Given the description of an element on the screen output the (x, y) to click on. 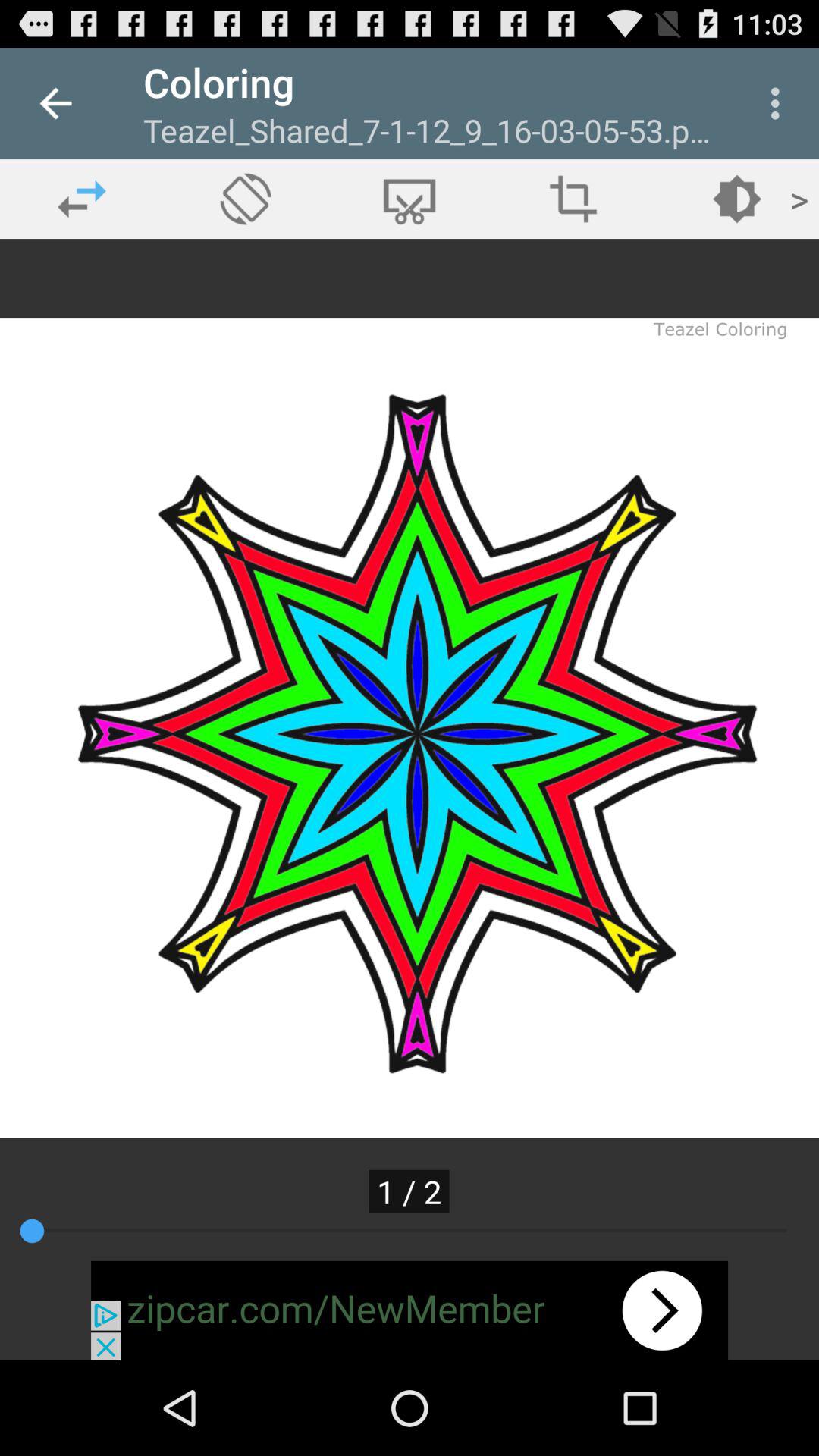
access advertisement (409, 1310)
